Given the description of an element on the screen output the (x, y) to click on. 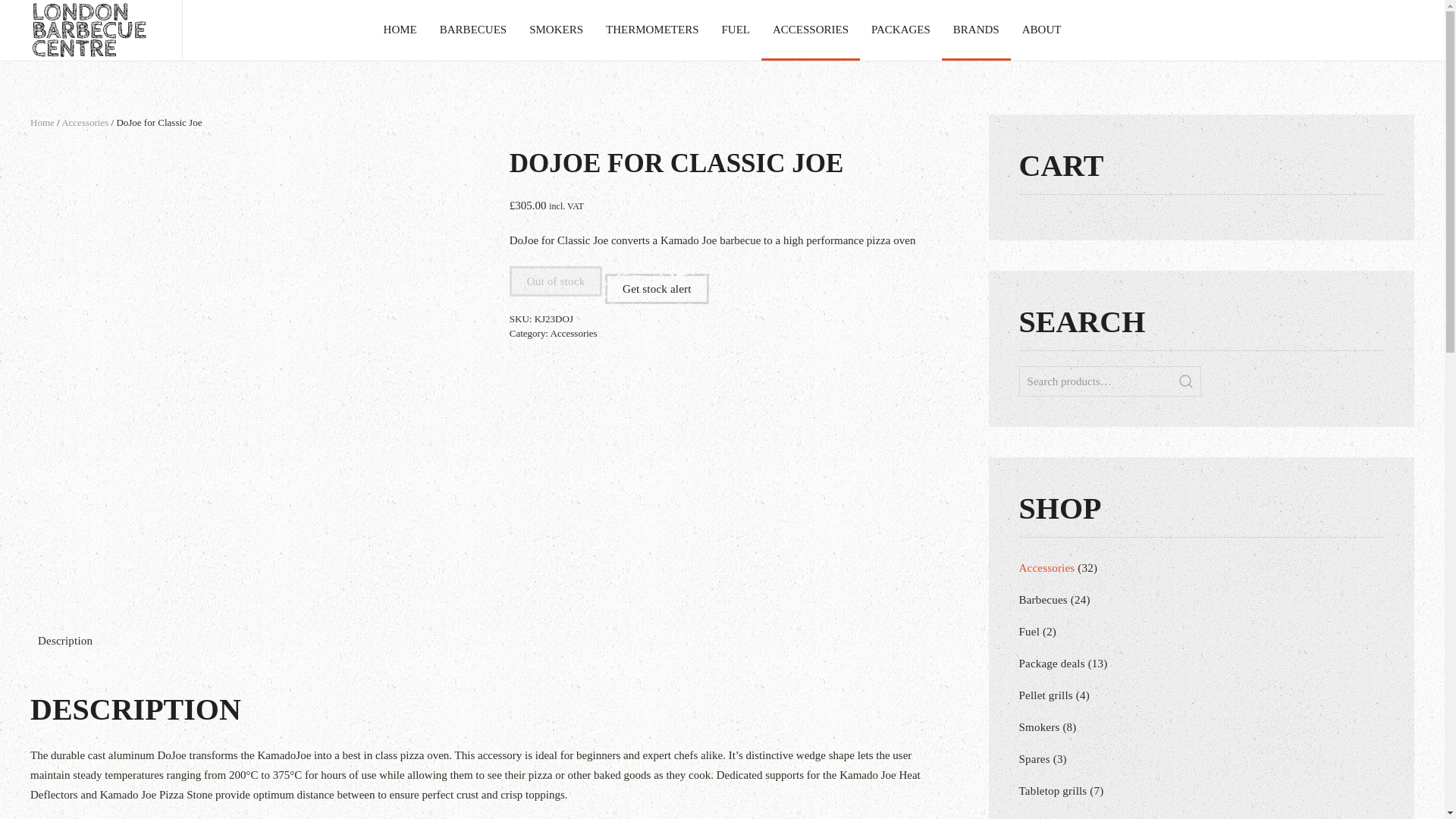
THERMOMETERS (652, 30)
SMOKERS (556, 30)
PACKAGES (901, 30)
BARBECUES (473, 30)
BRANDS (976, 30)
ACCESSORIES (810, 30)
HOME (400, 30)
